Given the description of an element on the screen output the (x, y) to click on. 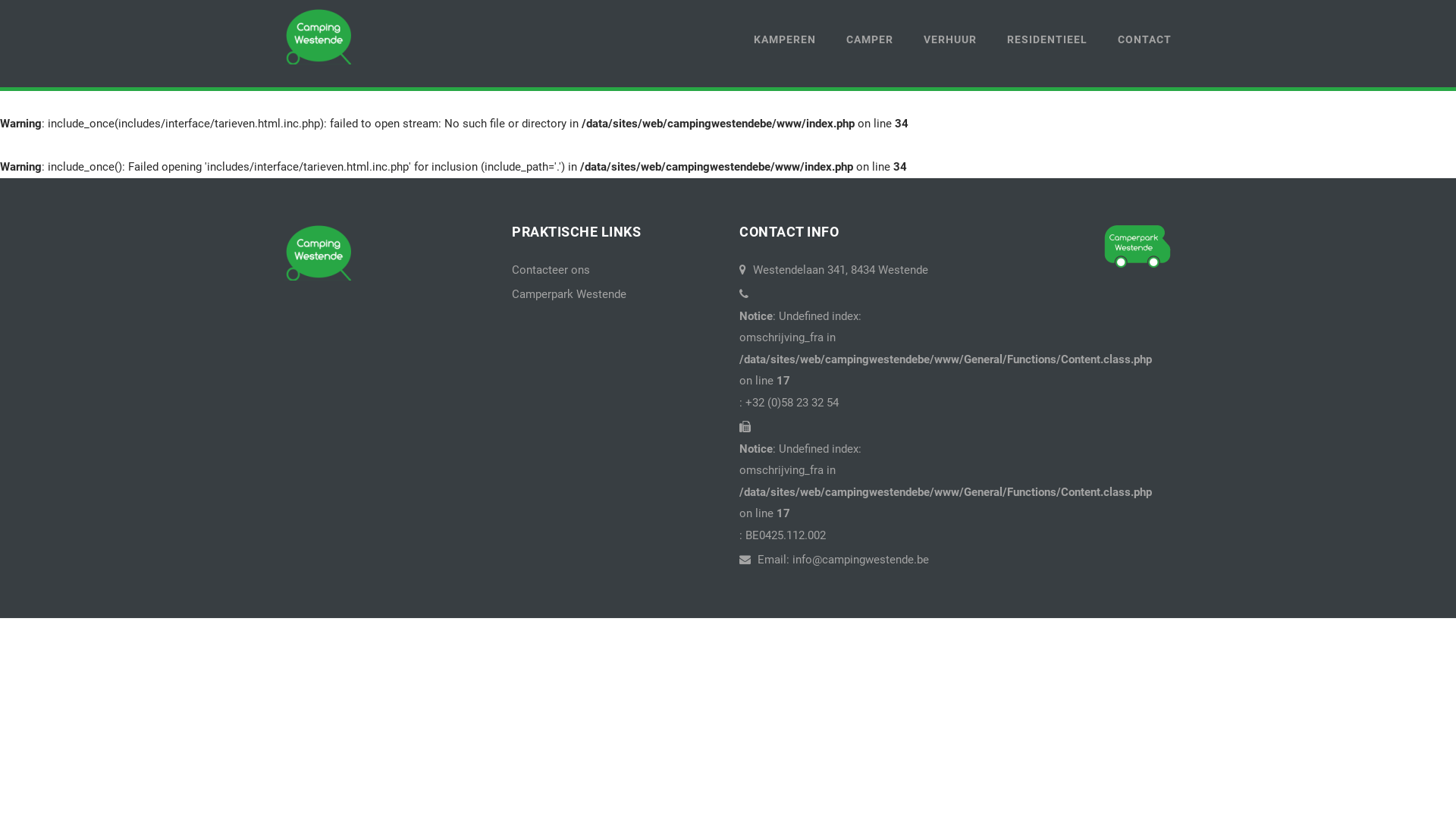
RESIDENTIEEL Element type: text (1046, 39)
Contacteer ons Element type: text (550, 269)
info@campingwestende.be Element type: text (860, 559)
CONTACT Element type: text (1136, 39)
CAMPER Element type: text (869, 39)
VERHUUR Element type: text (949, 39)
Camperpark Westende Element type: text (568, 294)
KAMPEREN Element type: text (784, 39)
